Given the description of an element on the screen output the (x, y) to click on. 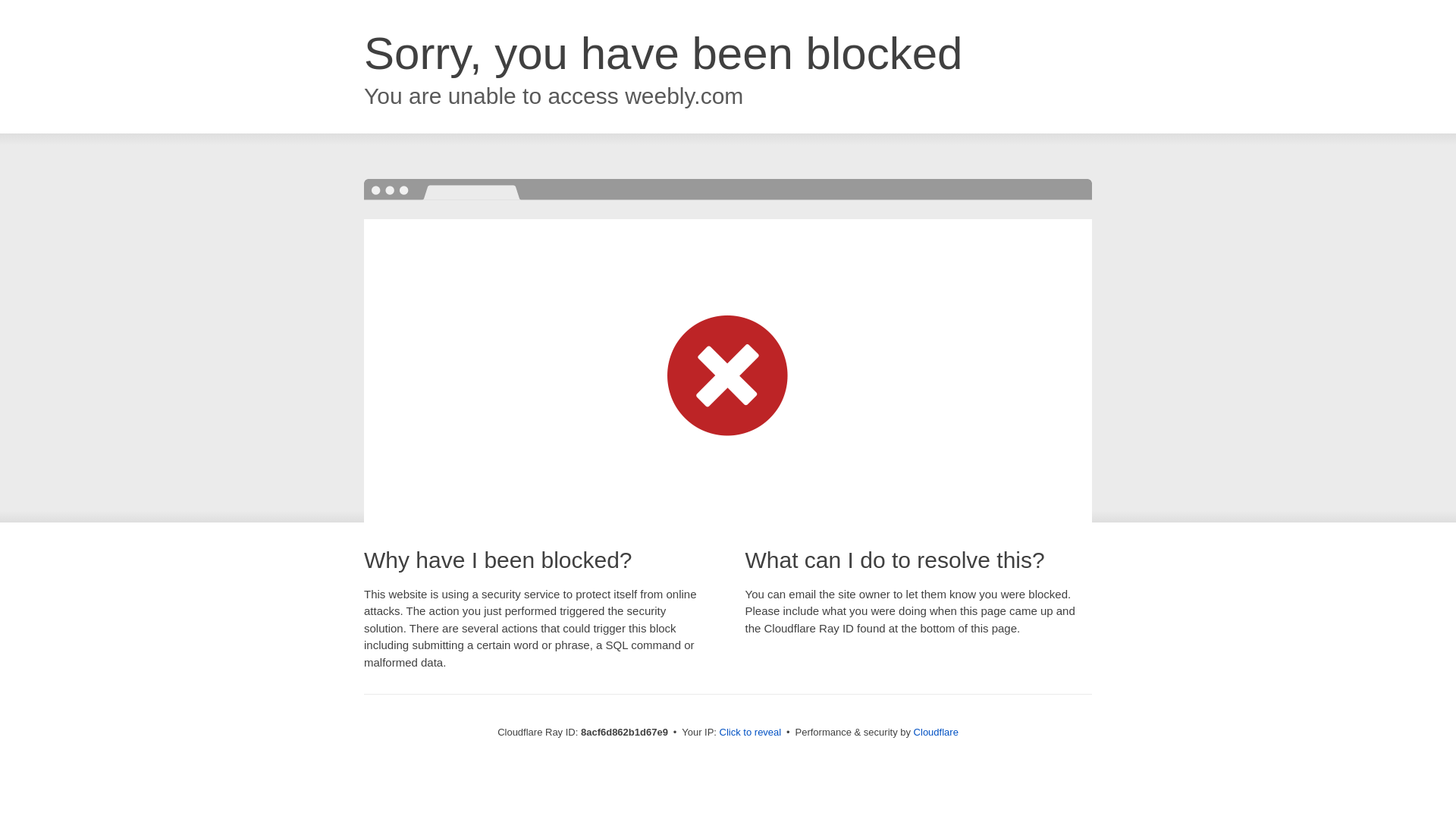
Click to reveal (750, 732)
Cloudflare (936, 731)
